Given the description of an element on the screen output the (x, y) to click on. 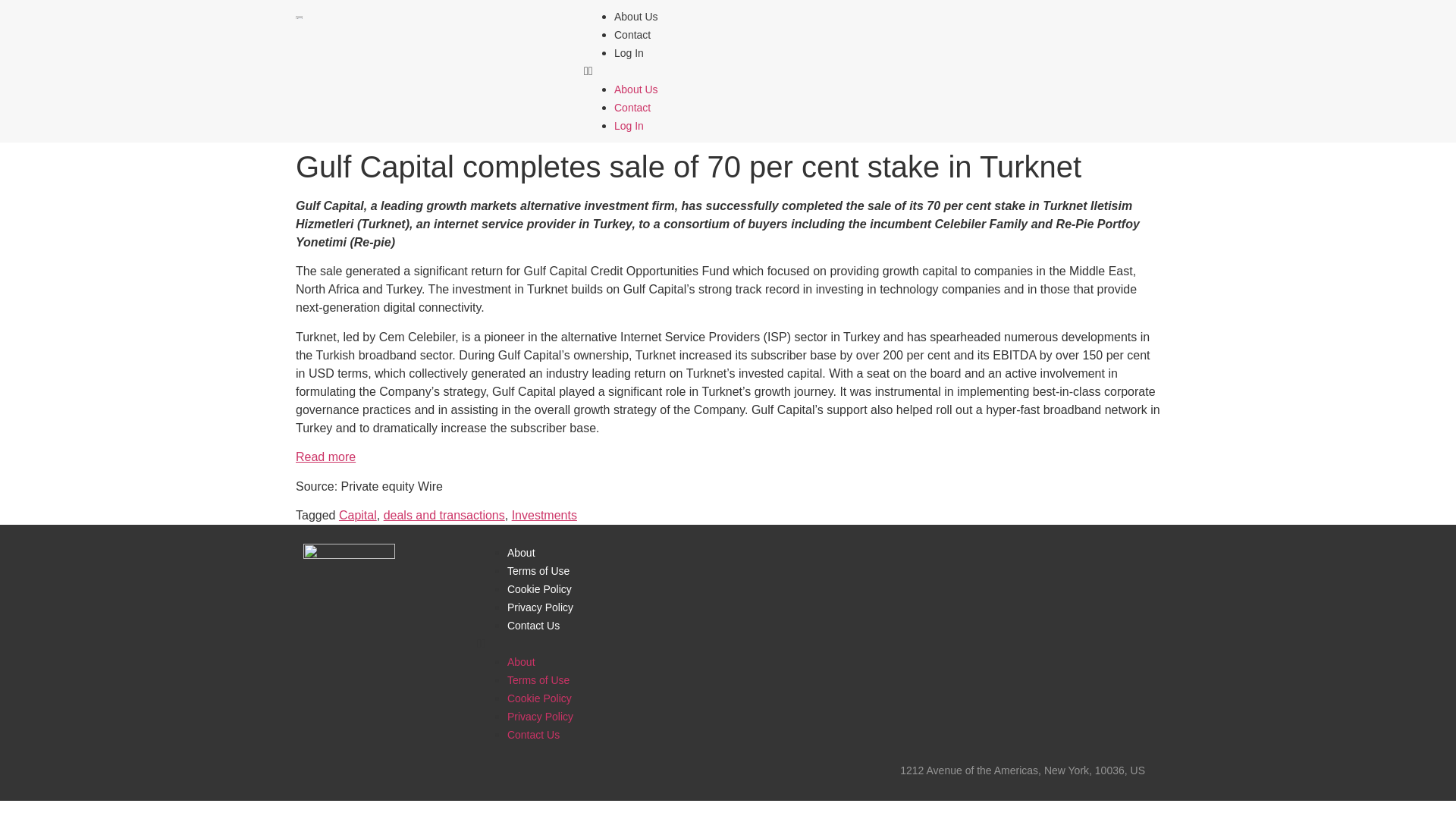
Capital (358, 514)
Investments (544, 514)
About (520, 552)
Contact Us (532, 625)
Log In (628, 125)
About Us (636, 89)
About Us (636, 16)
Cookie Policy (539, 589)
Contact (632, 34)
Cookie Policy (539, 698)
